Given the description of an element on the screen output the (x, y) to click on. 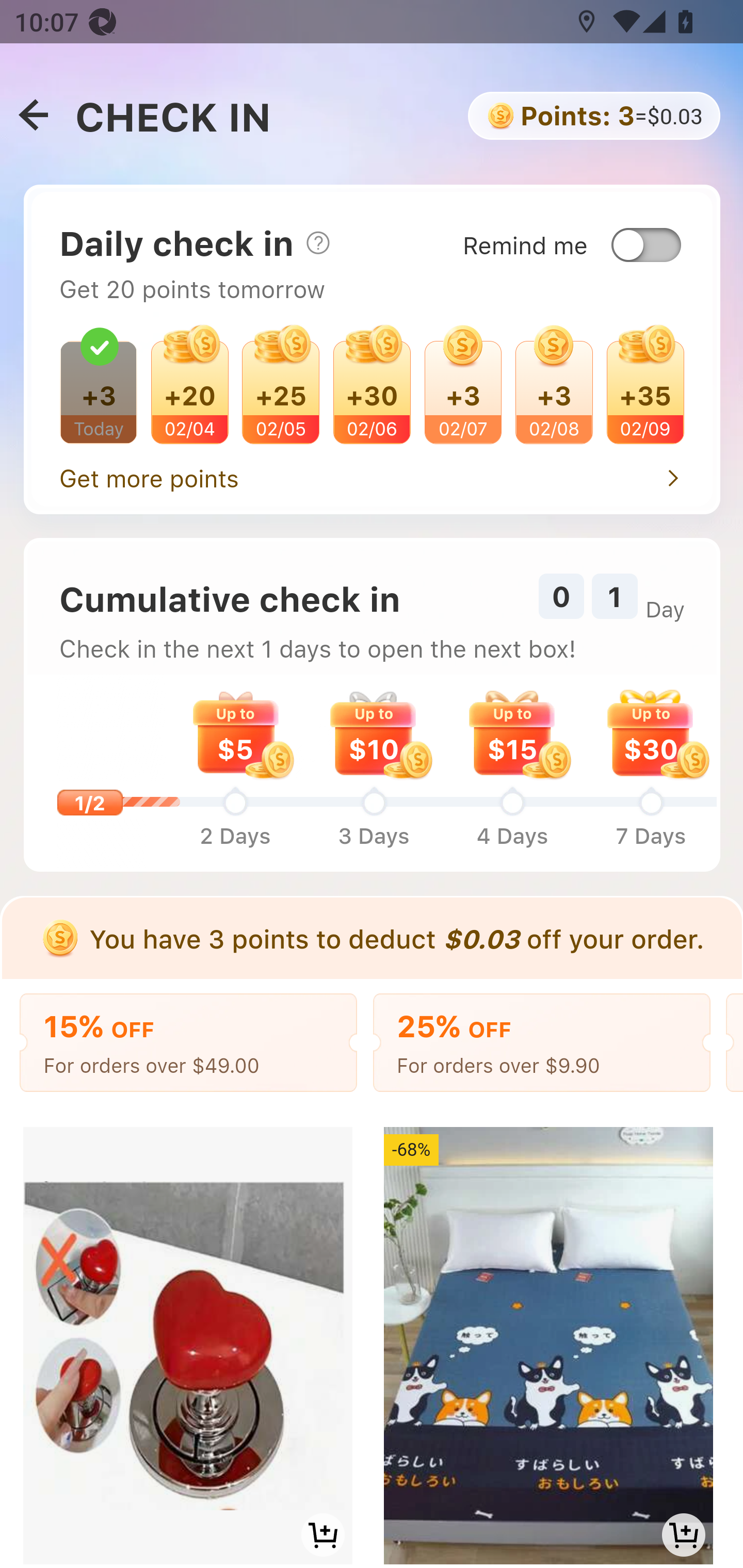
 (33, 115)
Points: 3=$0.03 (592, 115)
Remind me (587, 228)
 (317, 242)
+3 Today (98, 390)
+20 02/04 (188, 390)
+25 02/05 (281, 390)
+30 02/06 (371, 390)
+3 02/07 (462, 390)
+3 02/08 (553, 390)
+35 02/09 (644, 390)
Get more points  (371, 473)
Up to $5 2 Days (234, 771)
Up to $10 3 Days (373, 771)
Up to $15 4 Days (512, 771)
Up to $30 7 Days (650, 771)
Up to $5 (235, 731)
Up to $10 (373, 731)
Up to $15 (511, 731)
Up to $30 (650, 731)
